Given the description of an element on the screen output the (x, y) to click on. 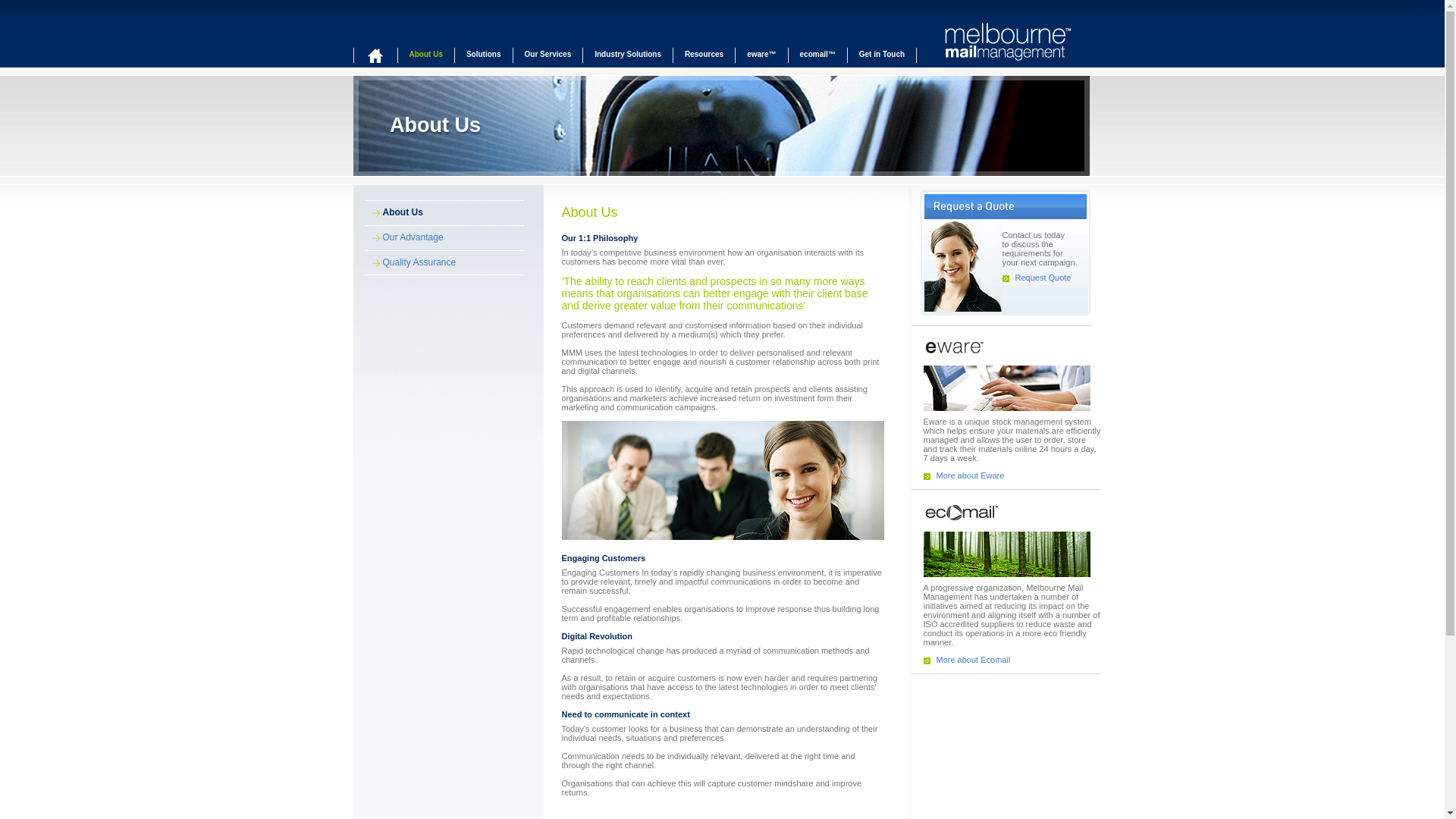
Industry Solutions Element type: text (627, 58)
Get in Touch Element type: text (881, 58)
About Us Element type: text (425, 58)
Resources Element type: text (703, 58)
More about Ecomail Element type: text (972, 659)
Request Quote Element type: text (1042, 277)
Our Advantage Element type: text (403, 237)
Solutions Element type: text (483, 58)
  Element type: text (375, 54)
More about Eware Element type: text (969, 475)
Our Services Element type: text (547, 58)
Quality Assurance Element type: text (409, 262)
About Us Element type: text (393, 212)
